Given the description of an element on the screen output the (x, y) to click on. 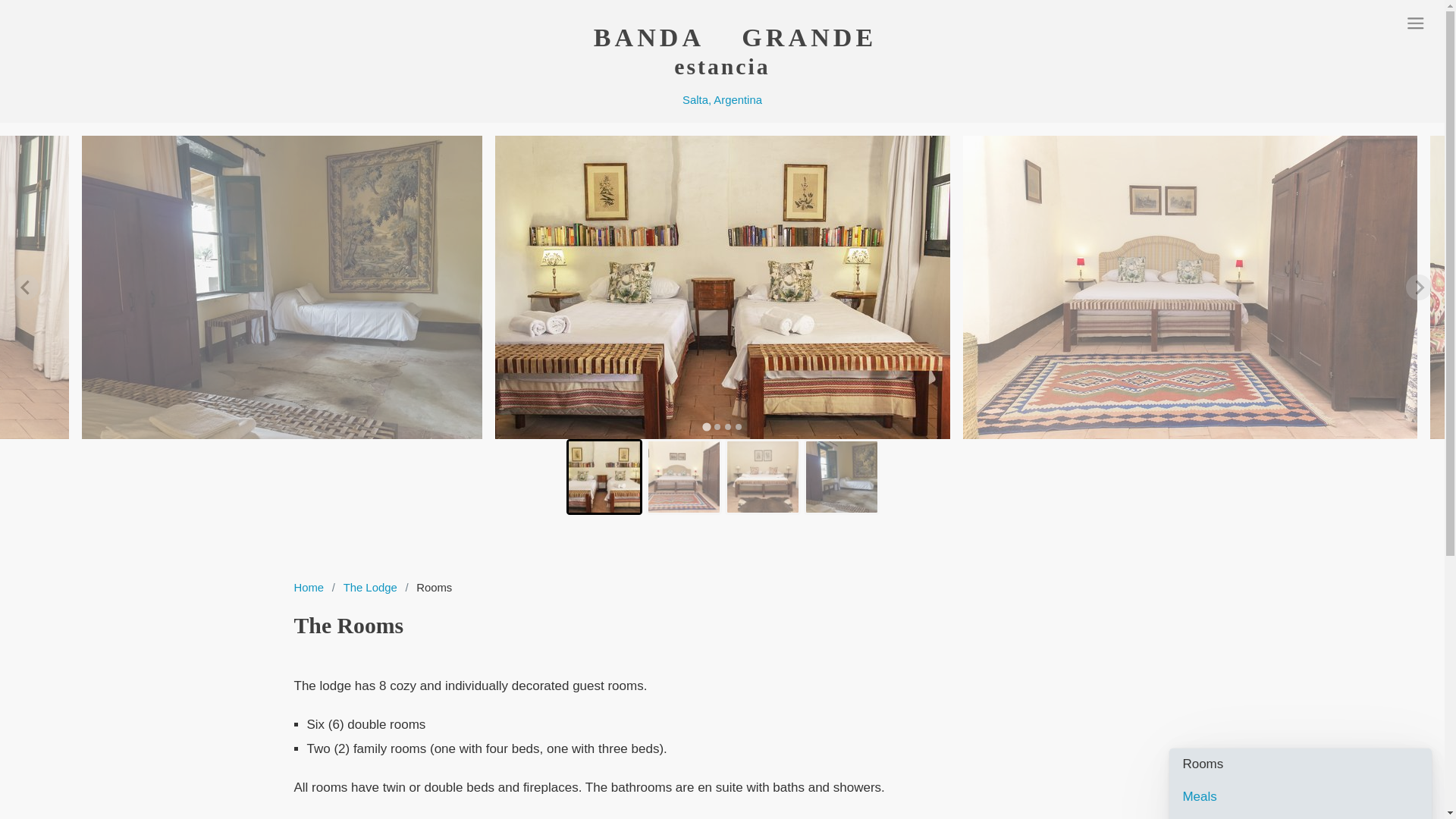
The Lodge (369, 586)
Meals (1307, 796)
Other information and services (1307, 816)
Home (308, 586)
